Given the description of an element on the screen output the (x, y) to click on. 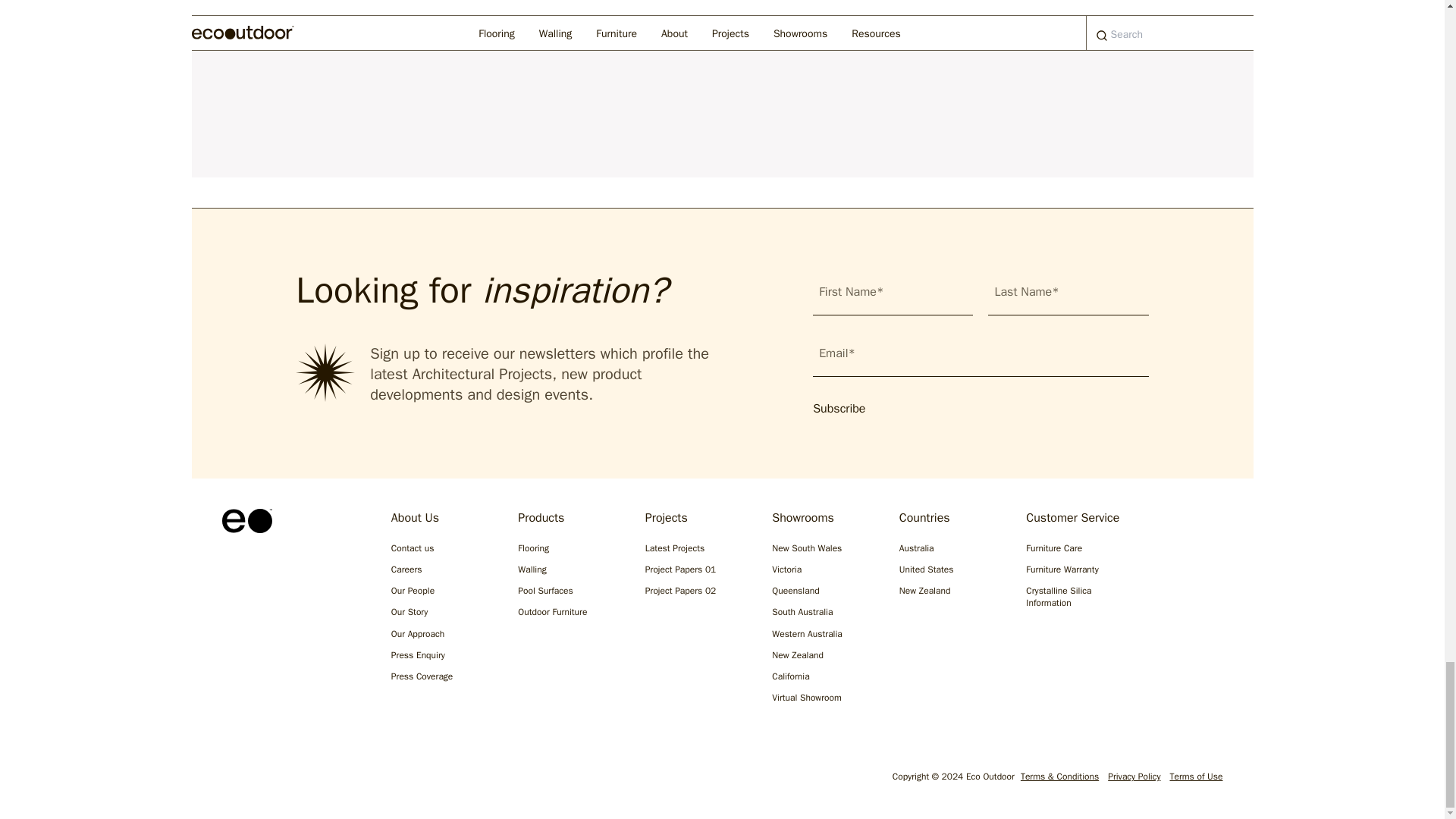
Instagram (230, 779)
YouTube (375, 779)
LinkedIn (327, 779)
Facebook (278, 779)
MiniLogo.svg (245, 520)
